Given the description of an element on the screen output the (x, y) to click on. 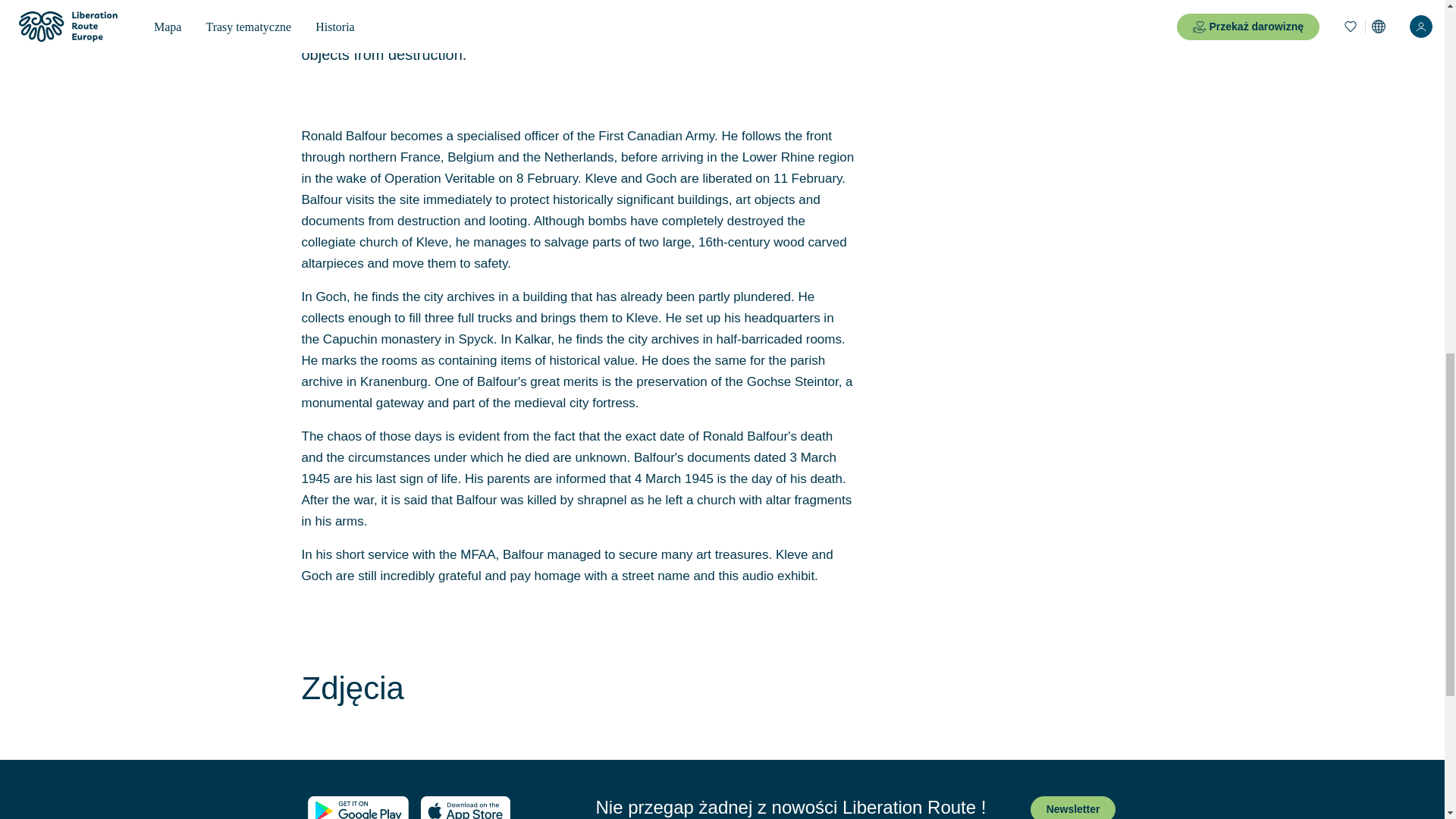
Newsletter (1073, 807)
